Given the description of an element on the screen output the (x, y) to click on. 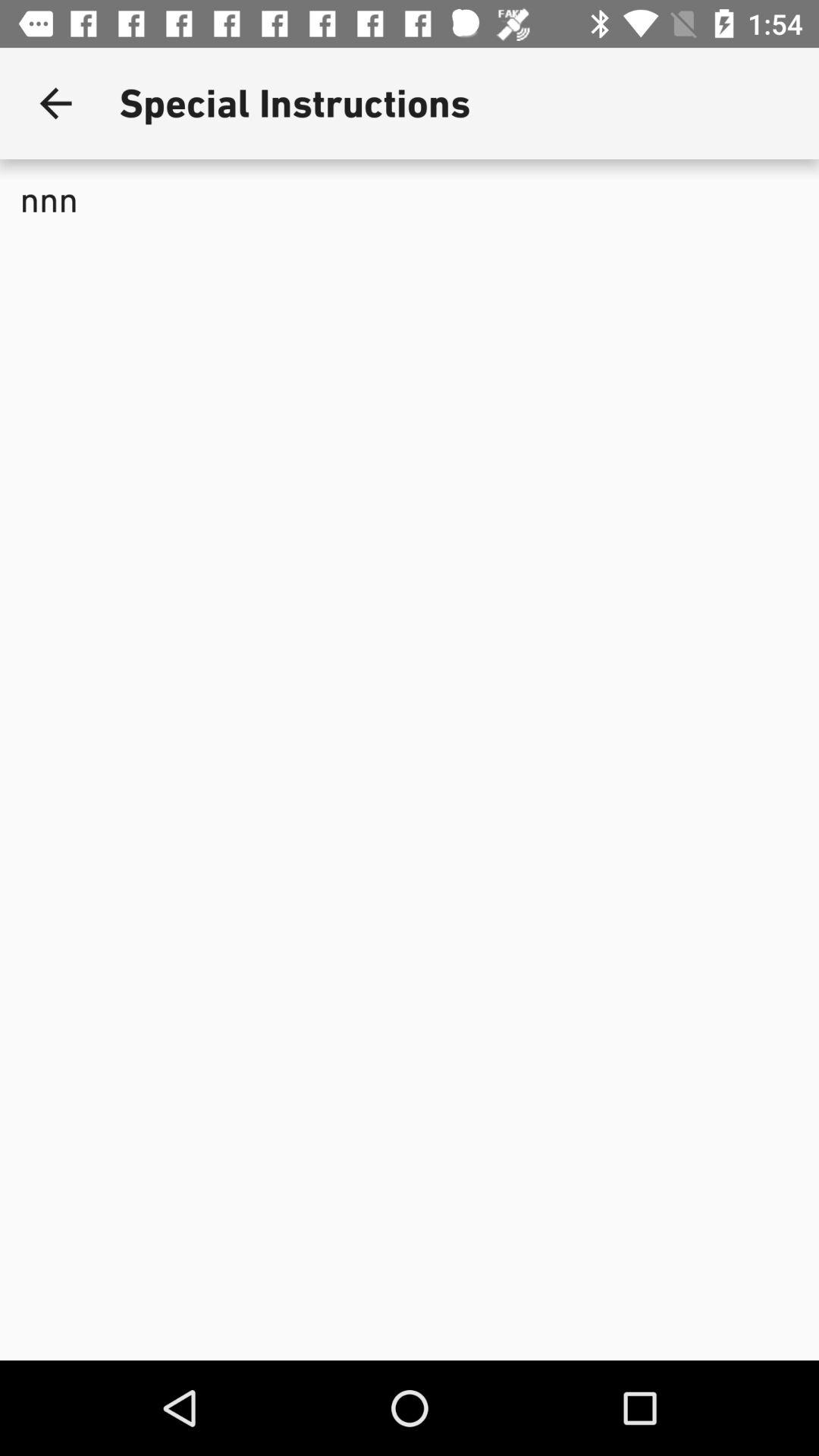
press the item to the left of the special instructions app (55, 103)
